Given the description of an element on the screen output the (x, y) to click on. 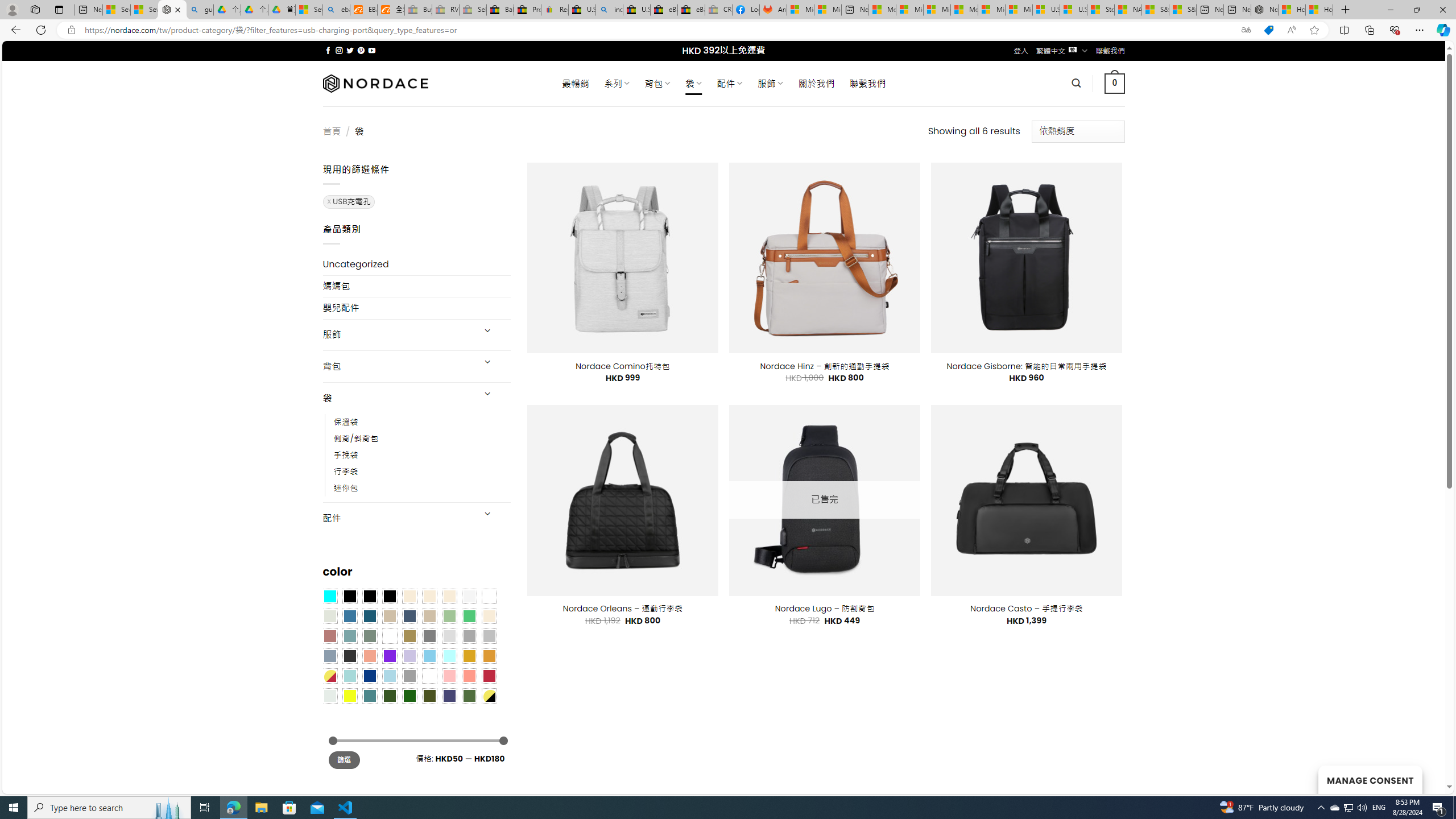
MANAGE CONSENT (1369, 779)
